Given the description of an element on the screen output the (x, y) to click on. 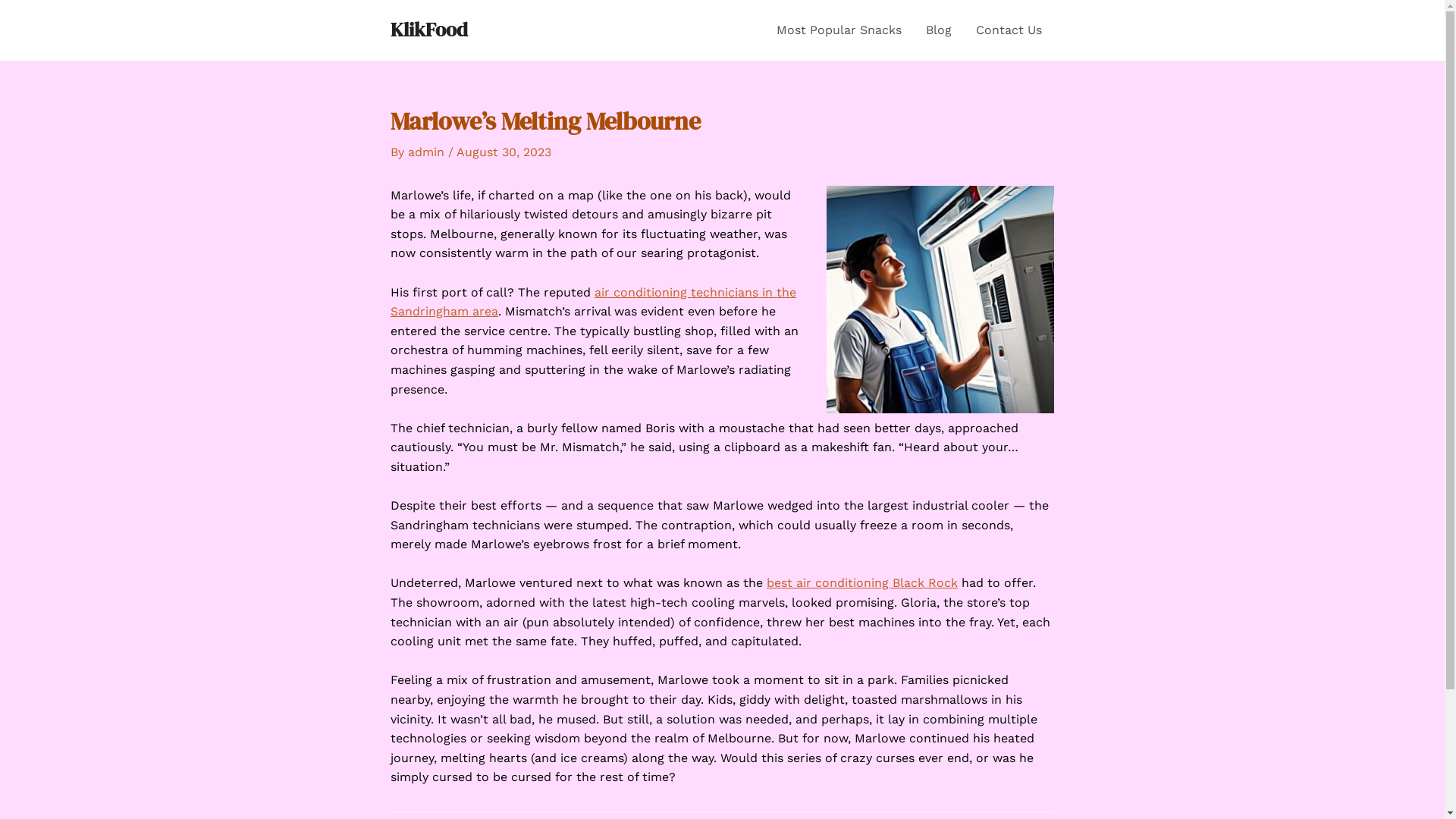
Most Popular Snacks Element type: text (838, 30)
best air conditioning Black Rock Element type: text (861, 582)
admin Element type: text (427, 151)
Blog Element type: text (938, 30)
KlikFood Element type: text (428, 29)
air conditioning technicians in the Sandringham area Element type: text (593, 302)
Contact Us Element type: text (1008, 30)
